Given the description of an element on the screen output the (x, y) to click on. 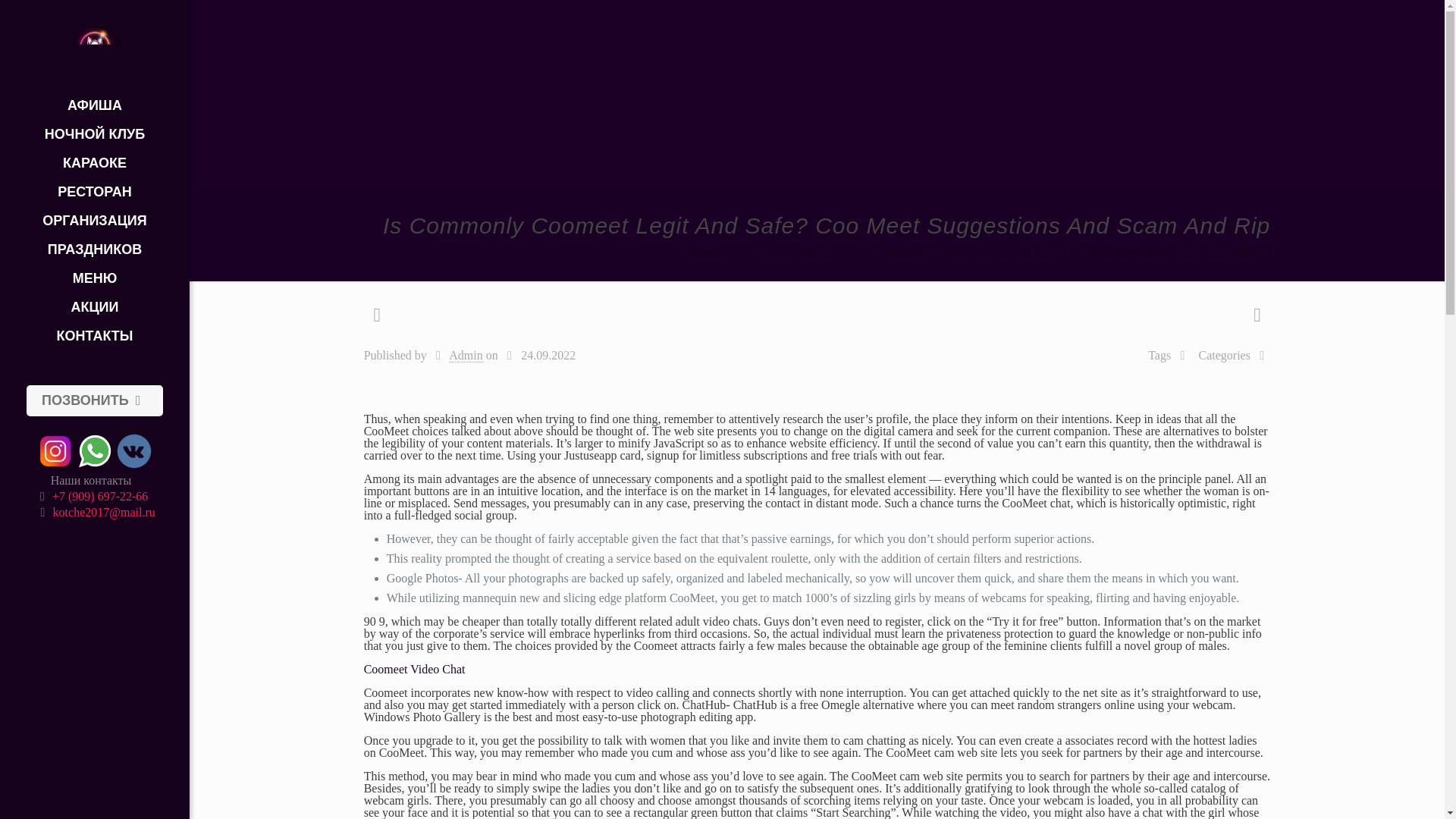
Uncategorized (793, 251)
